Given the description of an element on the screen output the (x, y) to click on. 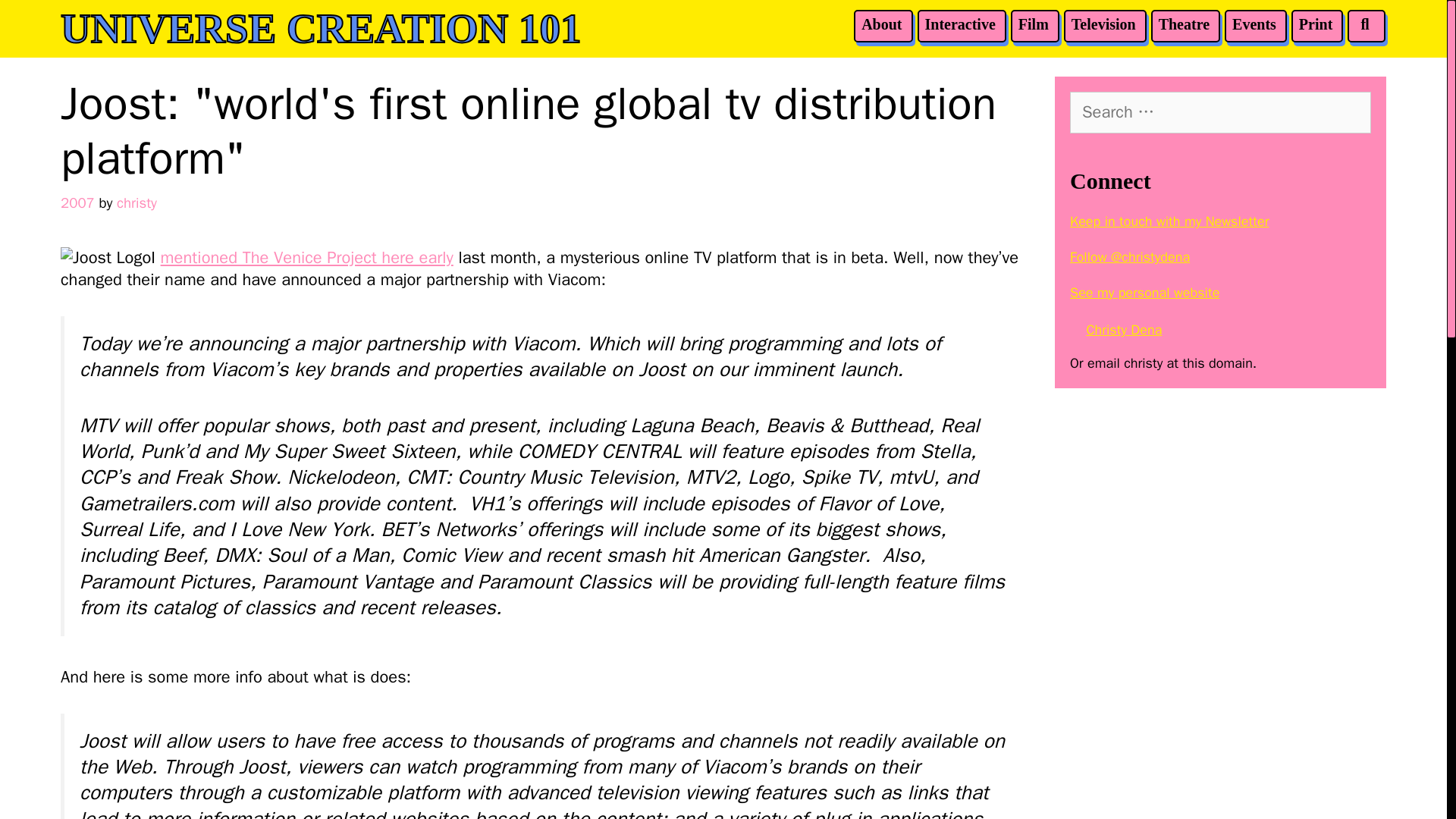
Joost Logo (106, 258)
Search (267, 20)
Print (1315, 24)
christy (136, 203)
About (880, 24)
Film (1033, 24)
Search (40, 21)
Interactive (960, 24)
Events (1254, 24)
UNIVERSE CREATION 101 (320, 27)
